Given the description of an element on the screen output the (x, y) to click on. 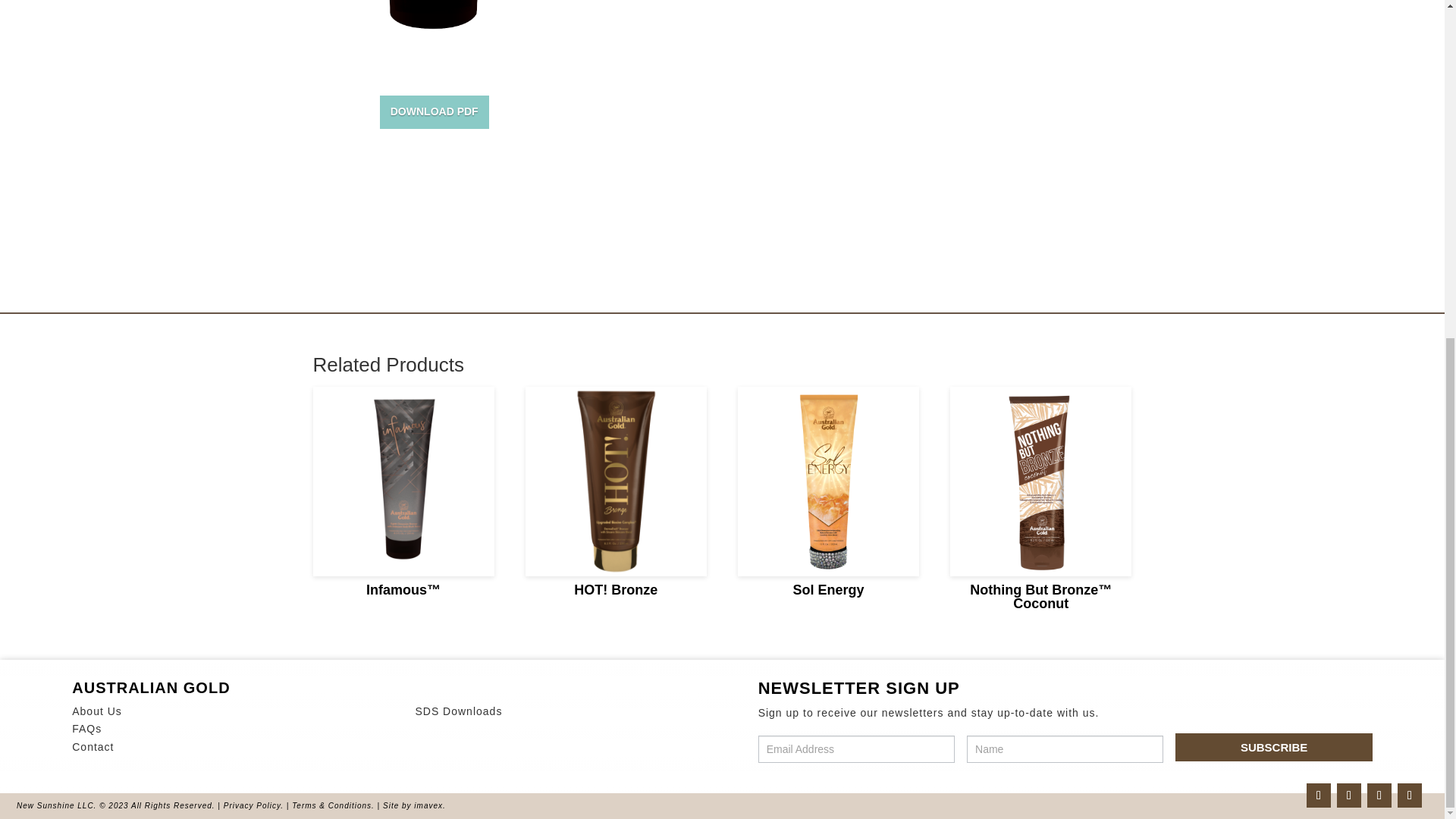
DOWNLOAD PDF (434, 111)
Follow on Instagram (1318, 794)
FAQs (86, 728)
SUBSCRIBE (1272, 747)
AUSTRALIAN GOLD (150, 687)
Privacy Policy. (253, 805)
Site by imavex. (413, 805)
SDS Downloads (458, 711)
Follow on TikTok (1379, 794)
Contact (92, 746)
Follow on Facebook (1348, 794)
About Us (96, 711)
Follow on Youtube (1409, 794)
